Given the description of an element on the screen output the (x, y) to click on. 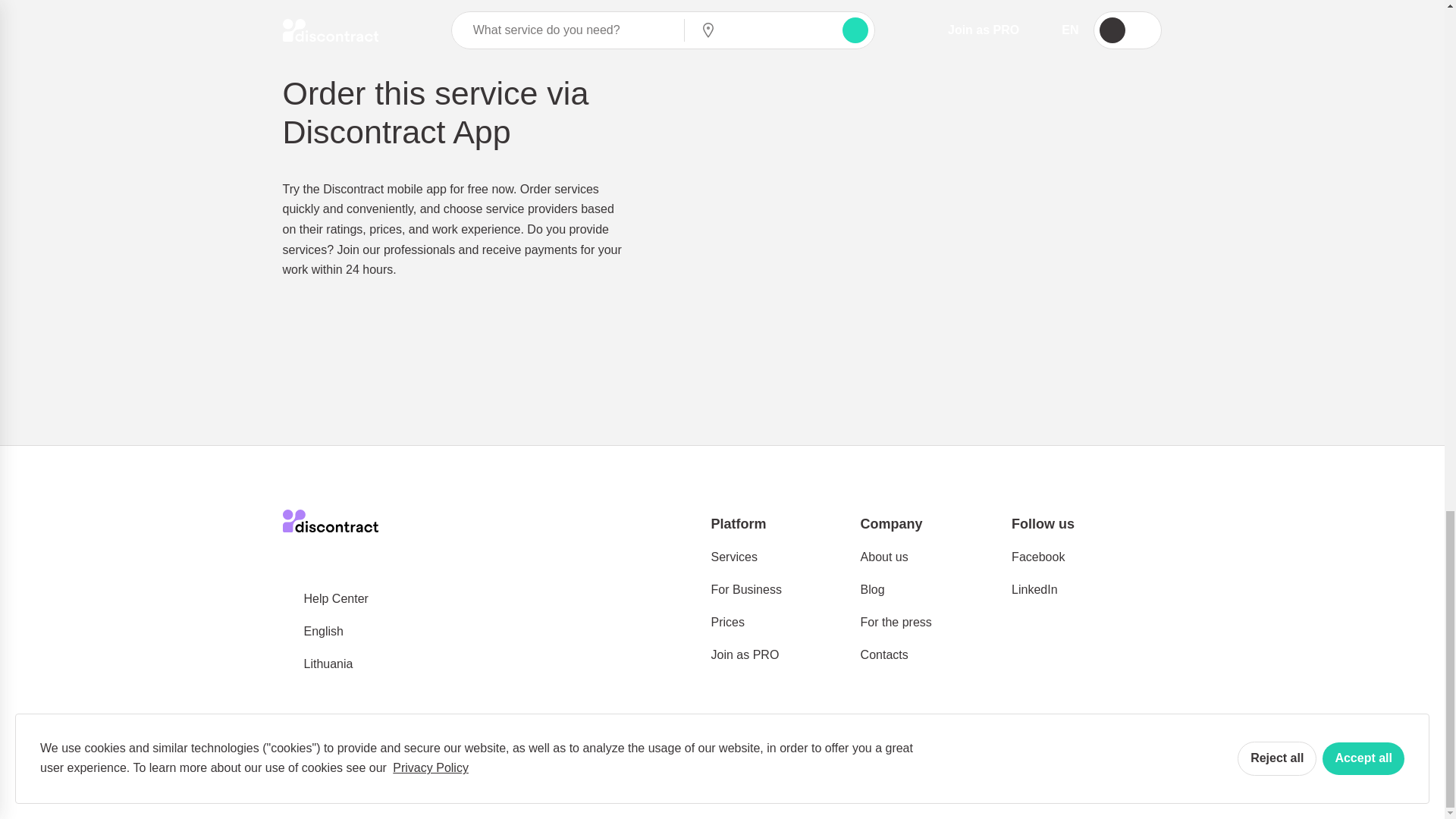
Lithuania (317, 664)
Help Center (325, 599)
For Business (745, 590)
Join as PRO (745, 655)
Prices (727, 622)
English (312, 632)
Services (733, 557)
